Given the description of an element on the screen output the (x, y) to click on. 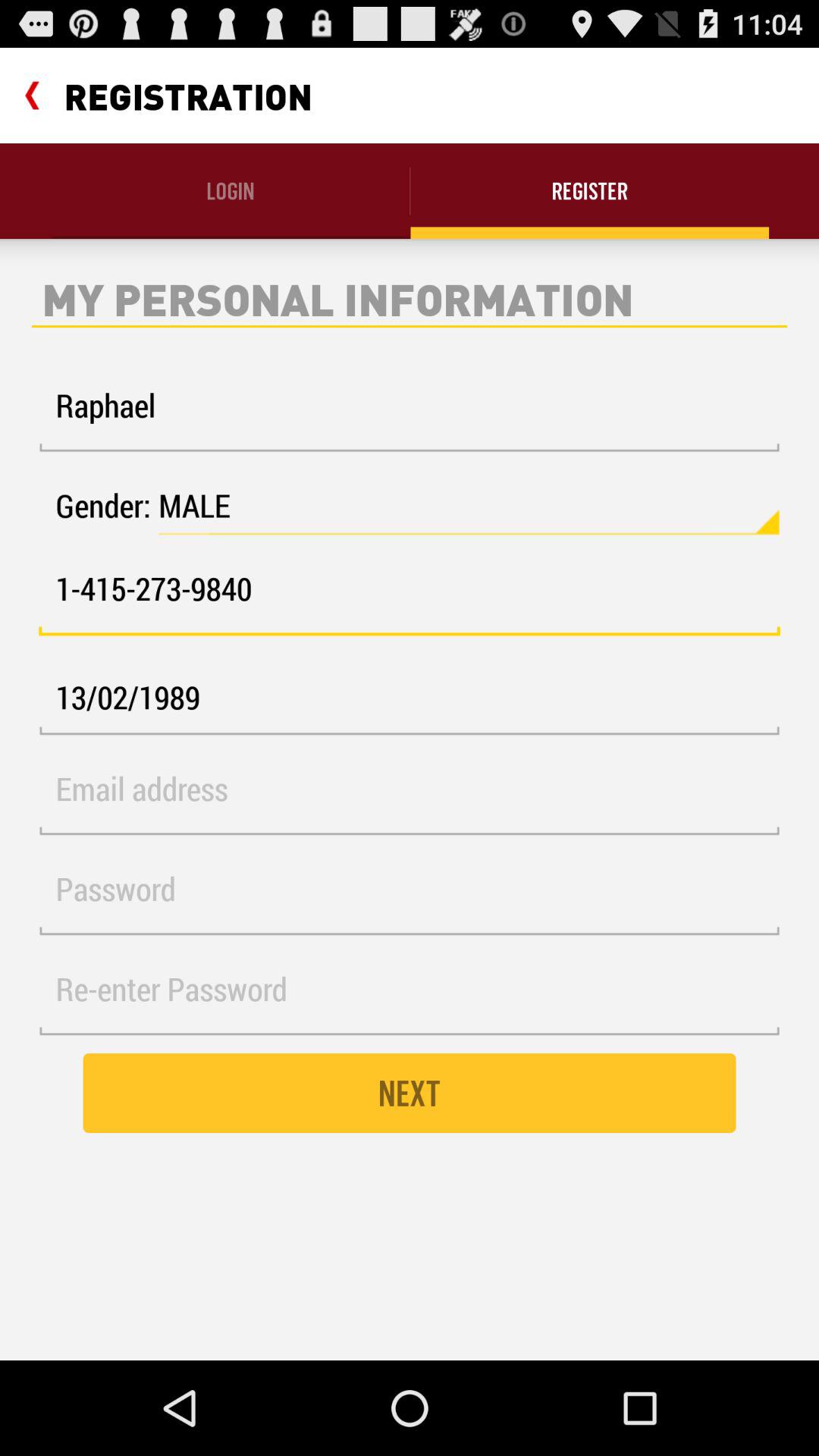
tap the male (468, 505)
